Given the description of an element on the screen output the (x, y) to click on. 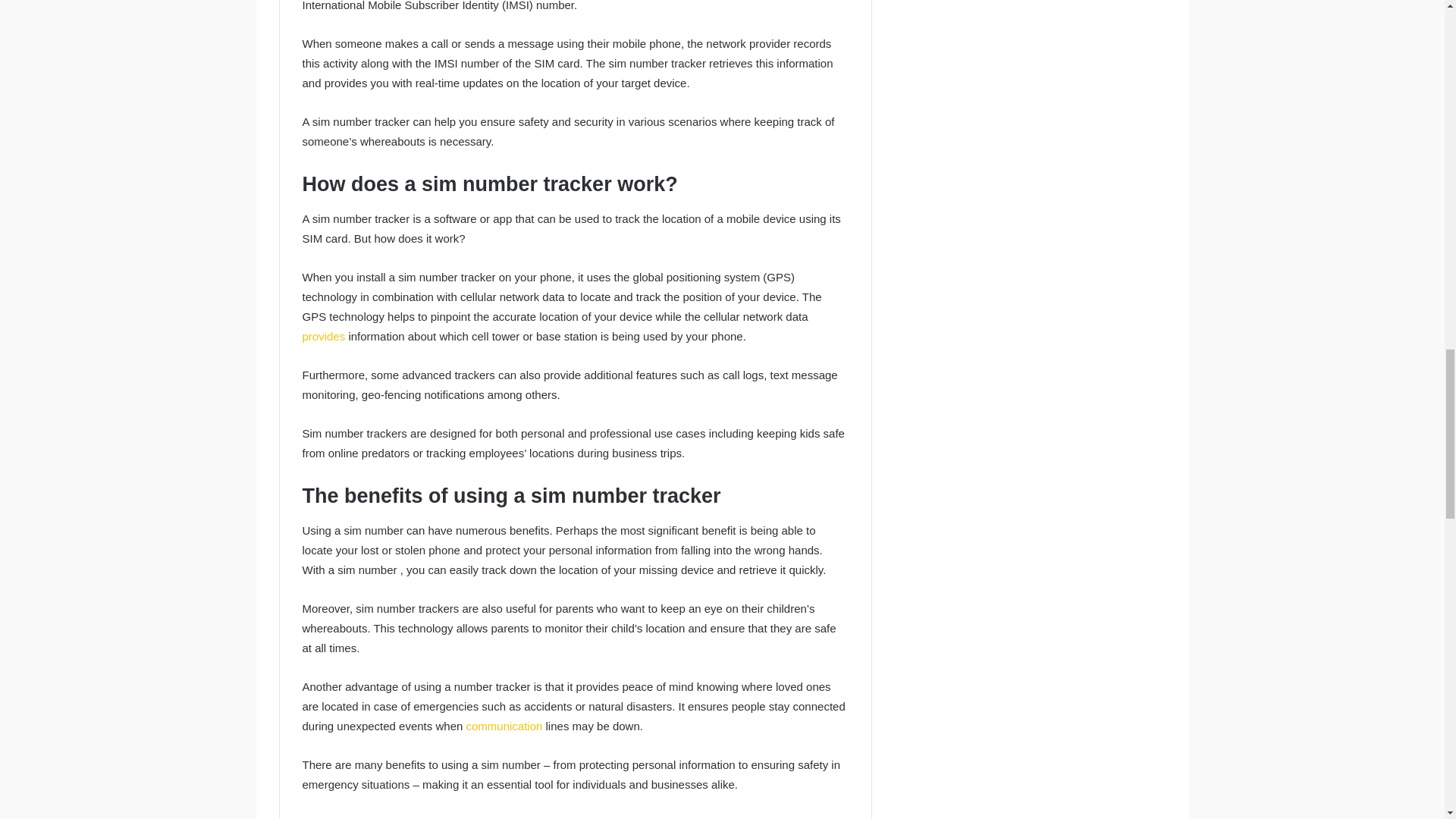
provides (324, 336)
communication (504, 725)
